Given the description of an element on the screen output the (x, y) to click on. 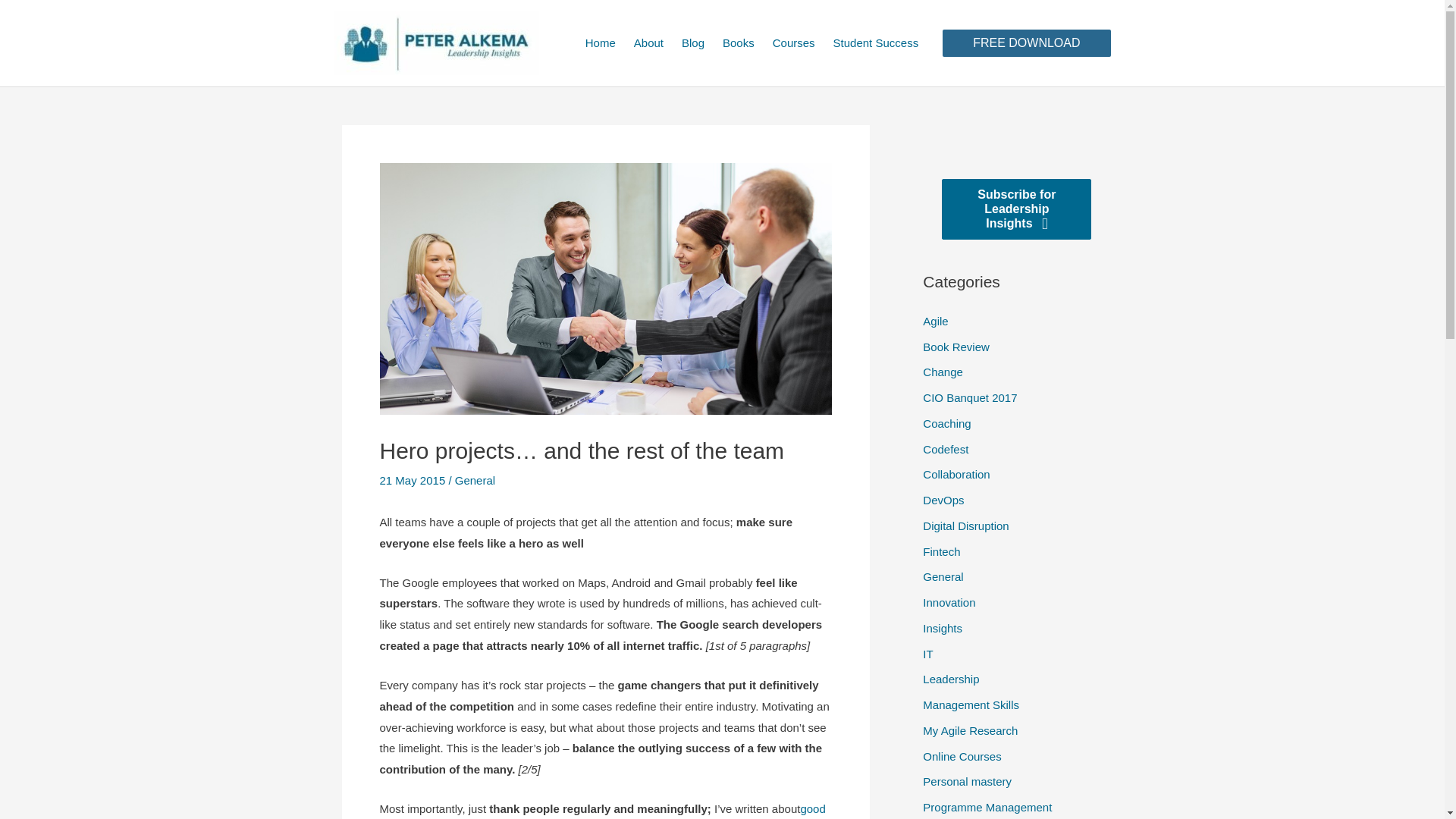
About (648, 42)
Blog (692, 42)
Home (600, 42)
good communication practices (601, 810)
General (474, 480)
FREE DOWNLOAD (1025, 42)
Books (737, 42)
Courses (793, 42)
Student Success (876, 42)
